Given the description of an element on the screen output the (x, y) to click on. 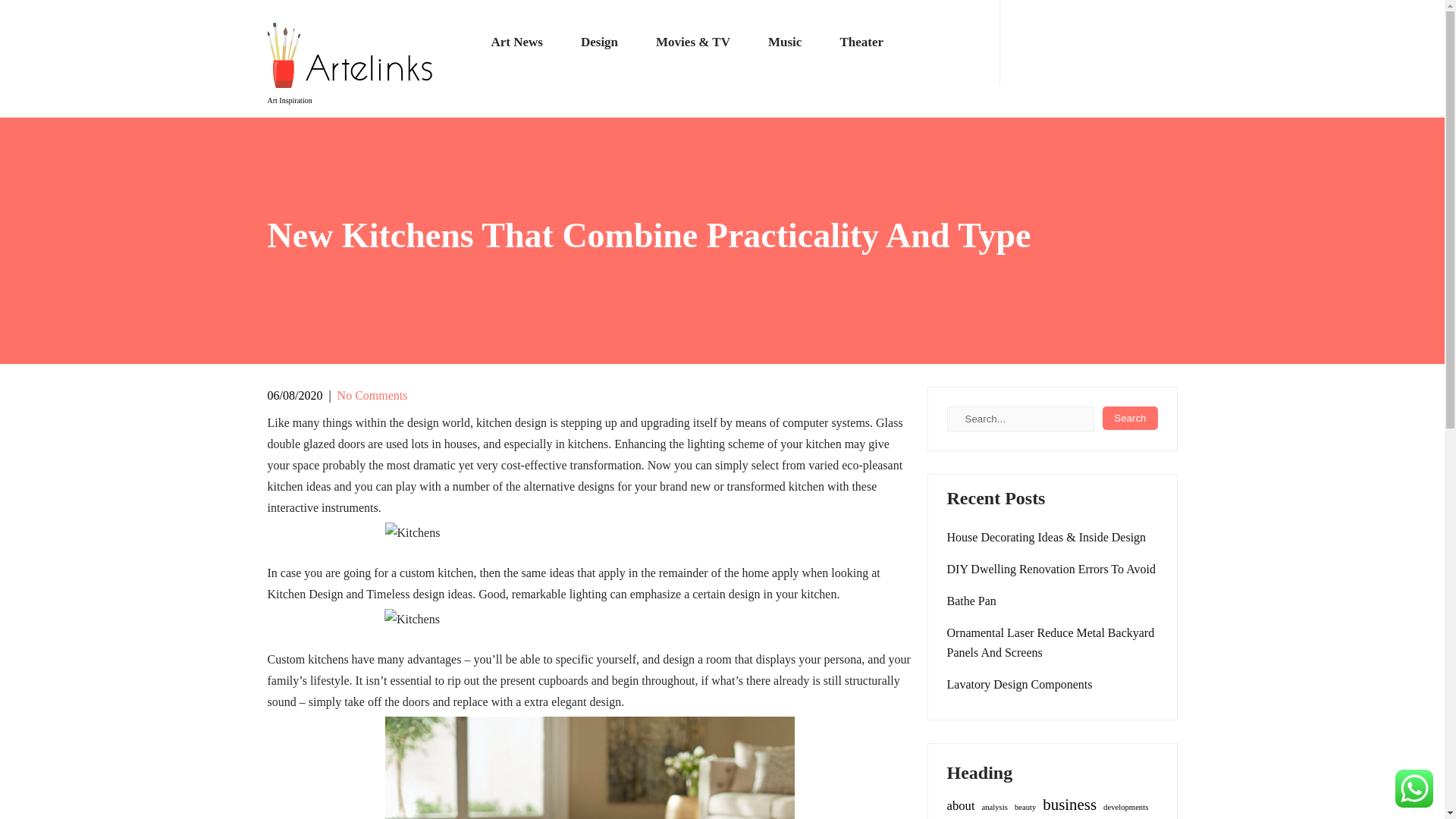
Search (1129, 417)
DIY Dwelling Renovation Errors To Avoid (1050, 569)
beauty (1024, 807)
developments (1125, 807)
Search (1129, 417)
about (960, 805)
analysis (994, 807)
Art News (515, 42)
Design (599, 42)
Bathe Pan (970, 600)
